Given the description of an element on the screen output the (x, y) to click on. 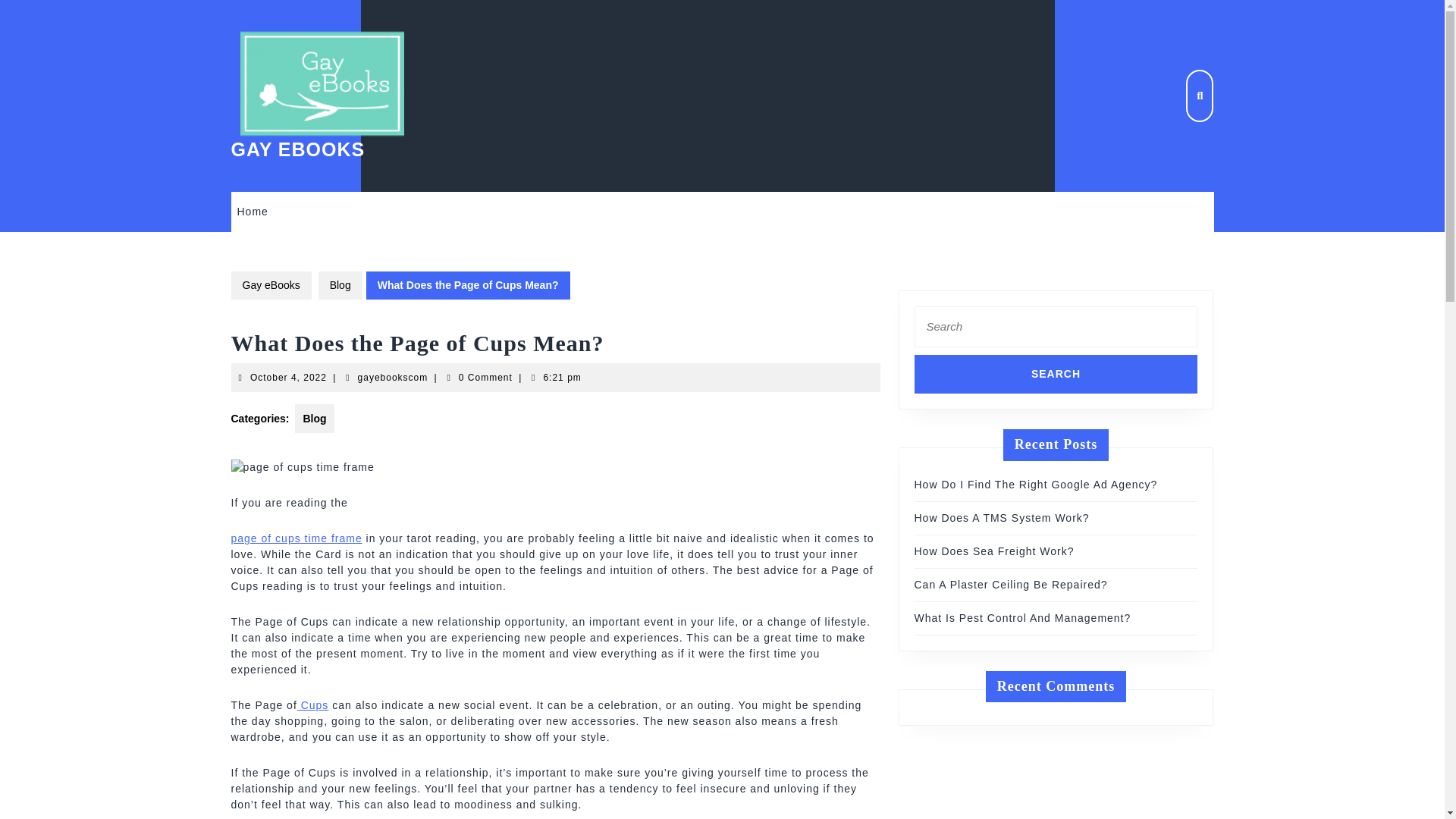
Blog (340, 285)
Blog (314, 418)
Search (1056, 373)
Search (1056, 373)
Gay eBooks (270, 285)
How Do I Find The Right Google Ad Agency? (1035, 484)
Can A Plaster Ceiling Be Repaired? (1011, 584)
How Does Sea Freight Work? (994, 551)
Home (393, 377)
